Given the description of an element on the screen output the (x, y) to click on. 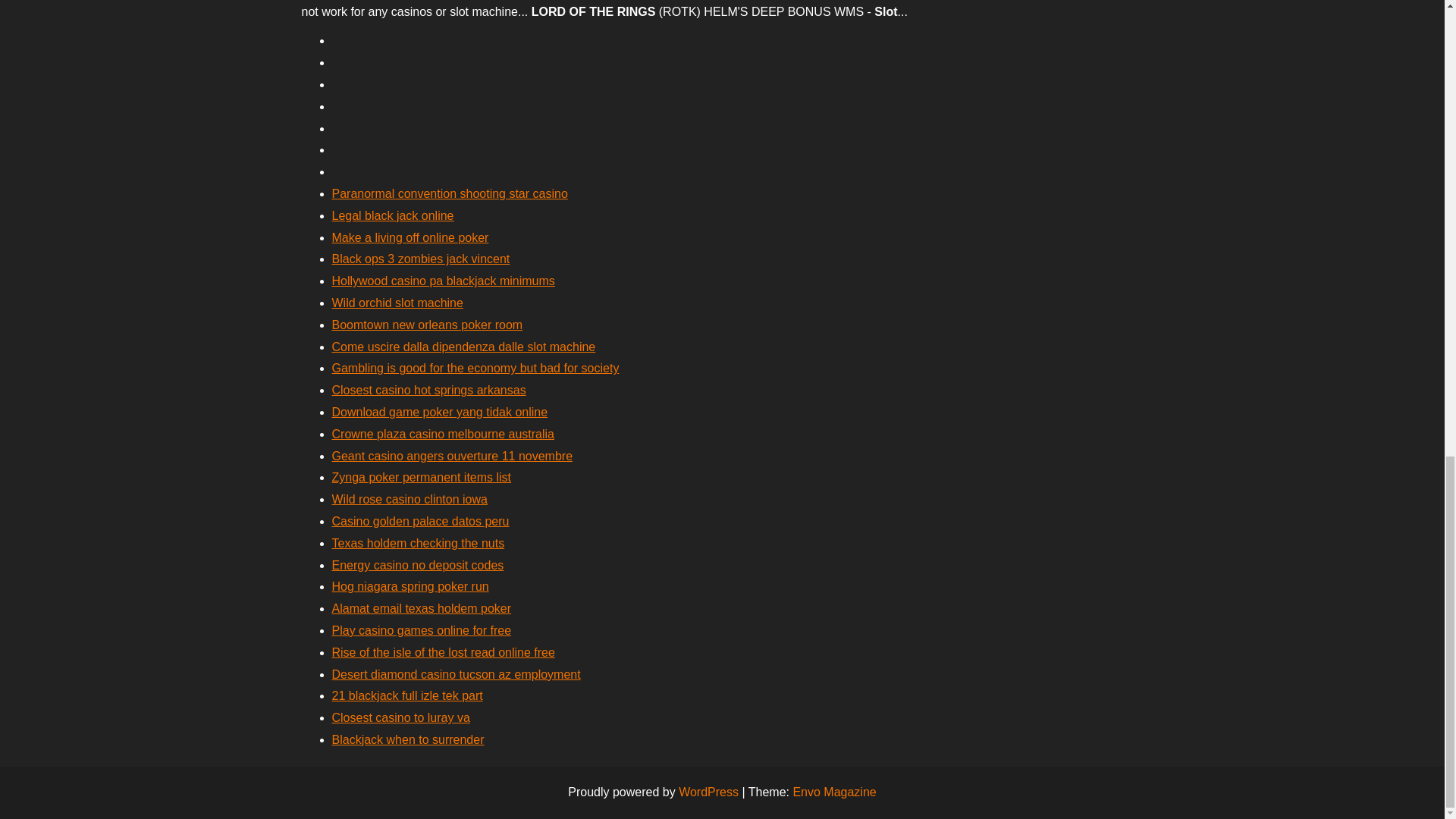
Closest casino hot springs arkansas (428, 390)
Closest casino to luray va (400, 717)
Desert diamond casino tucson az employment (455, 674)
Hollywood casino pa blackjack minimums (442, 280)
Blackjack when to surrender (407, 739)
Black ops 3 zombies jack vincent (421, 258)
Download game poker yang tidak online (439, 411)
Casino golden palace datos peru (420, 521)
Zynga poker permanent items list (421, 477)
Come uscire dalla dipendenza dalle slot machine (463, 346)
